Given the description of an element on the screen output the (x, y) to click on. 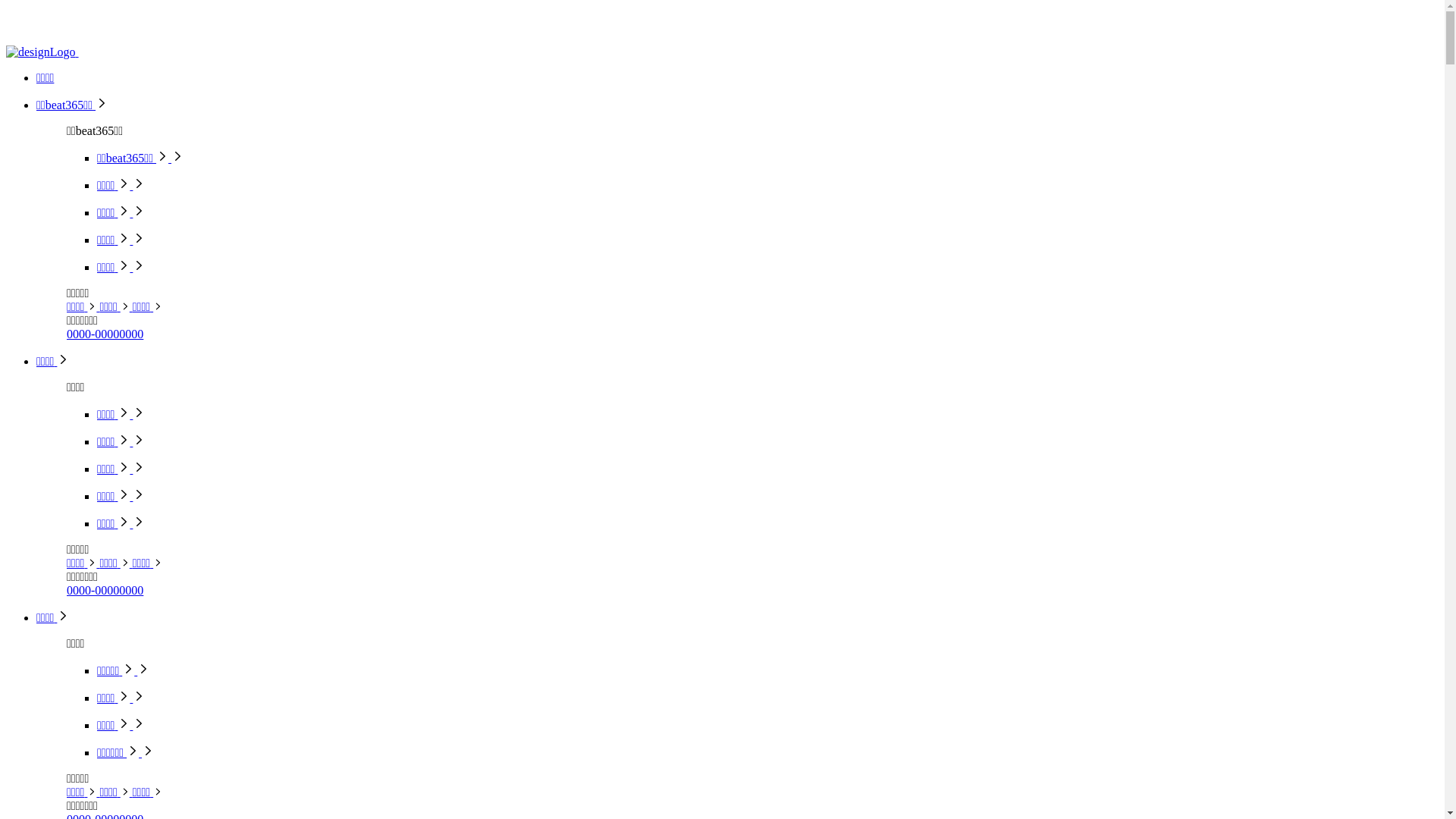
0000-00000000 Element type: text (104, 333)
designLogo Element type: hover (40, 52)
0000-00000000 Element type: text (104, 589)
